Given the description of an element on the screen output the (x, y) to click on. 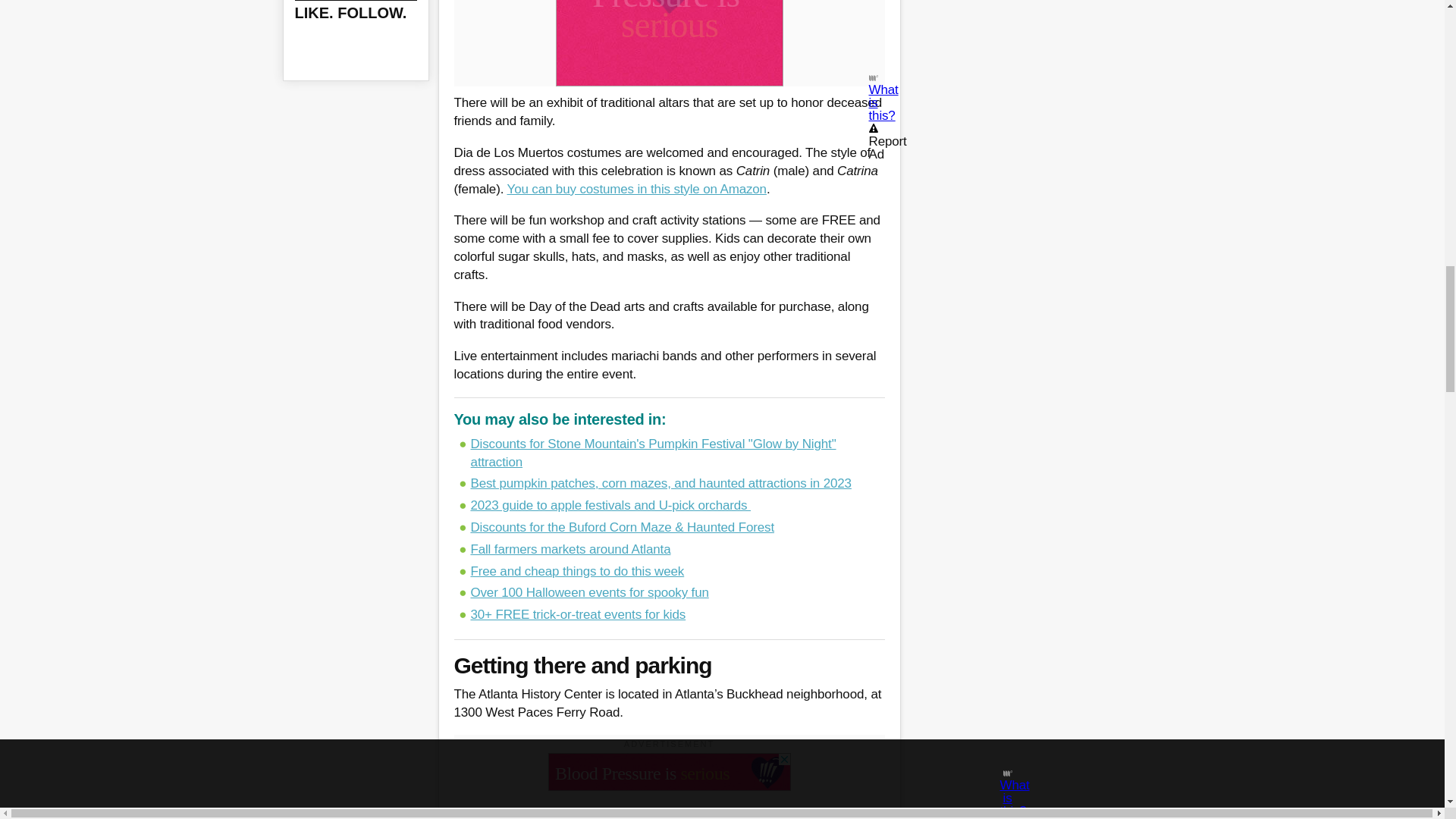
3rd party ad content (668, 771)
